Given the description of an element on the screen output the (x, y) to click on. 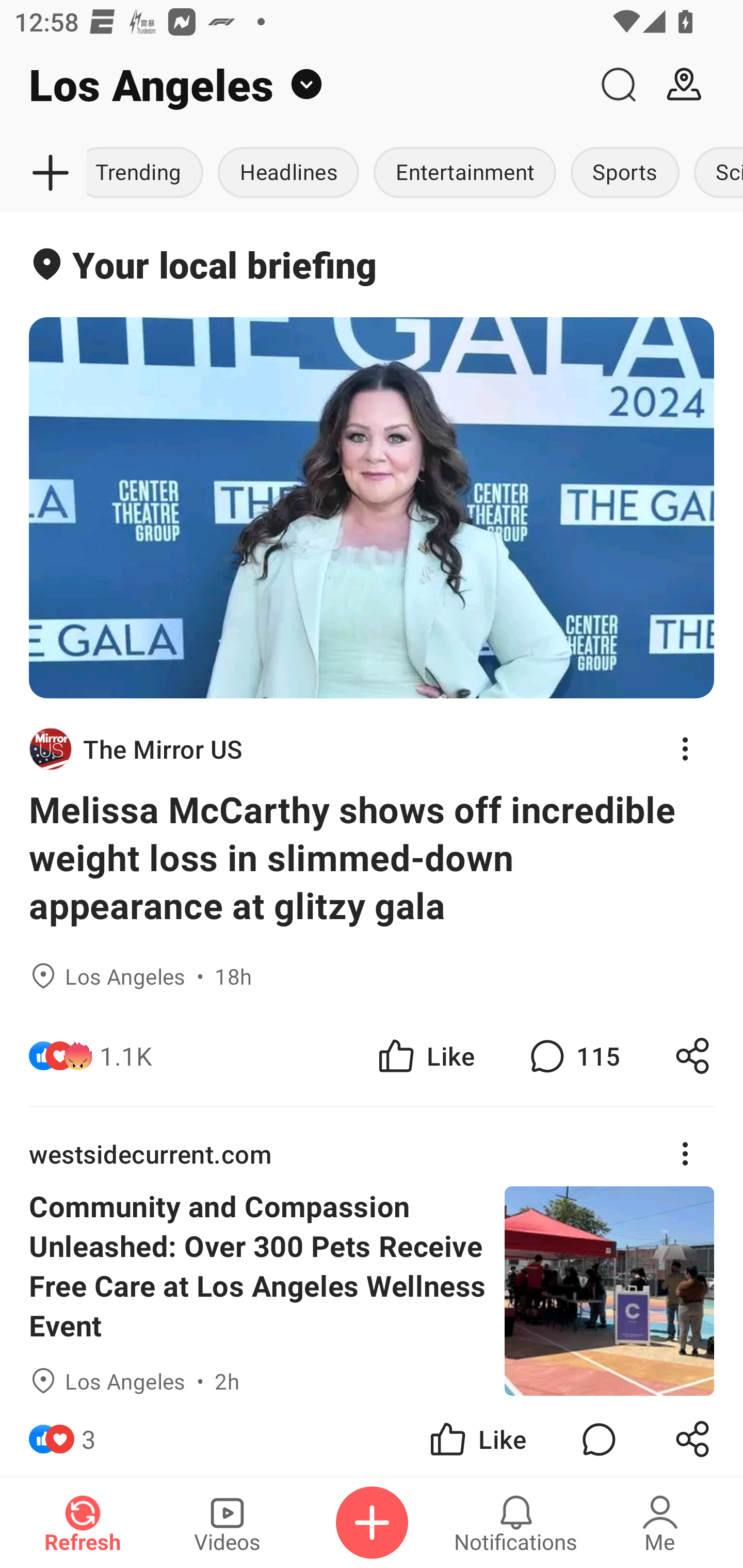
Los Angeles (292, 84)
Trending (148, 172)
Headlines (288, 172)
Entertainment (464, 172)
Sports (624, 172)
1.1K (125, 1055)
Like (425, 1055)
115 (572, 1055)
3 (88, 1436)
Like (476, 1436)
Videos (227, 1522)
Notifications (516, 1522)
Me (659, 1522)
